Given the description of an element on the screen output the (x, y) to click on. 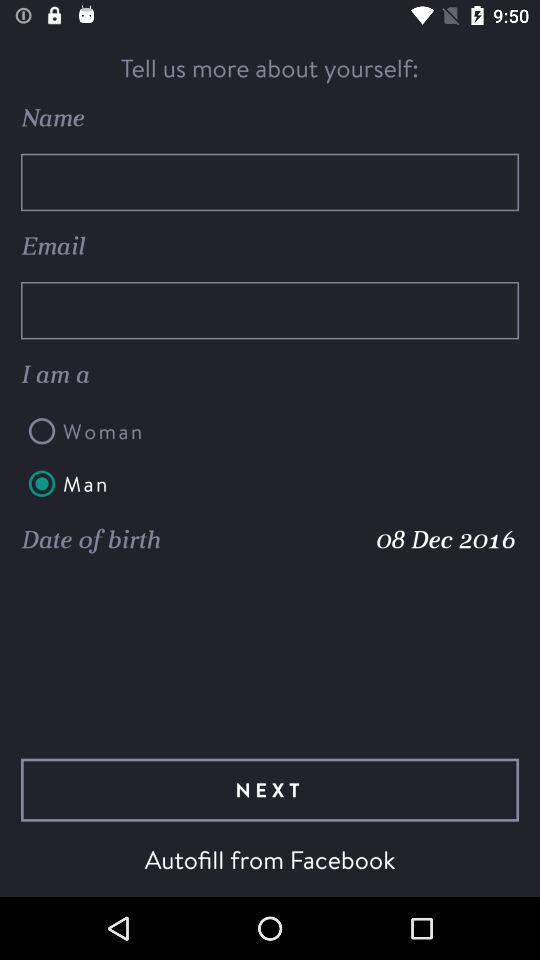
click item above the email icon (269, 182)
